Given the description of an element on the screen output the (x, y) to click on. 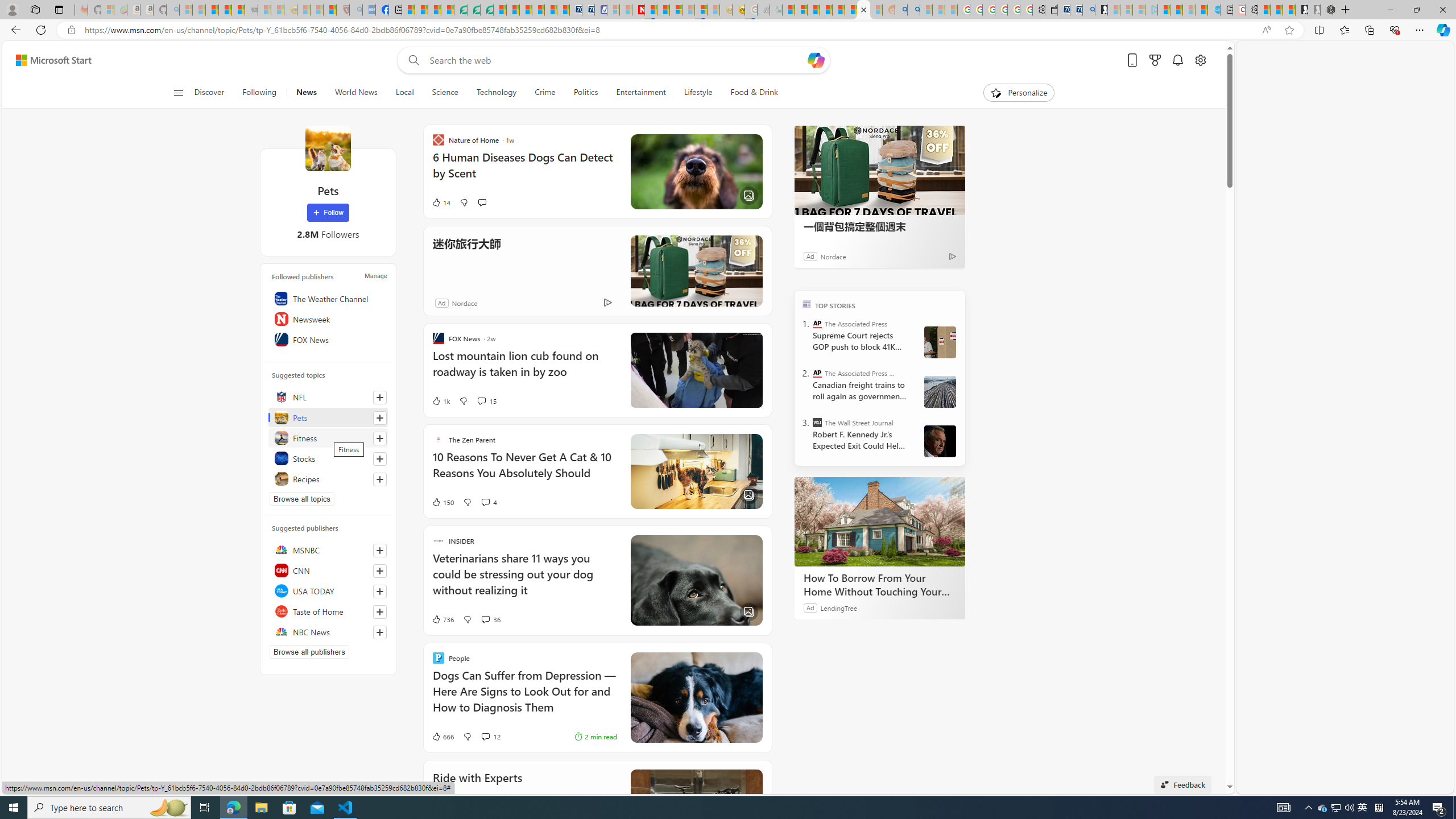
Lost mountain lion cub found on roadway is taken in by zoo (524, 369)
Personalize (1019, 92)
New tab (1226, 9)
Browse all topics (301, 498)
World News (355, 92)
1k Like (440, 400)
Split screen (1318, 29)
Class: hero-image (696, 369)
Follow this topic (379, 479)
